Given the description of an element on the screen output the (x, y) to click on. 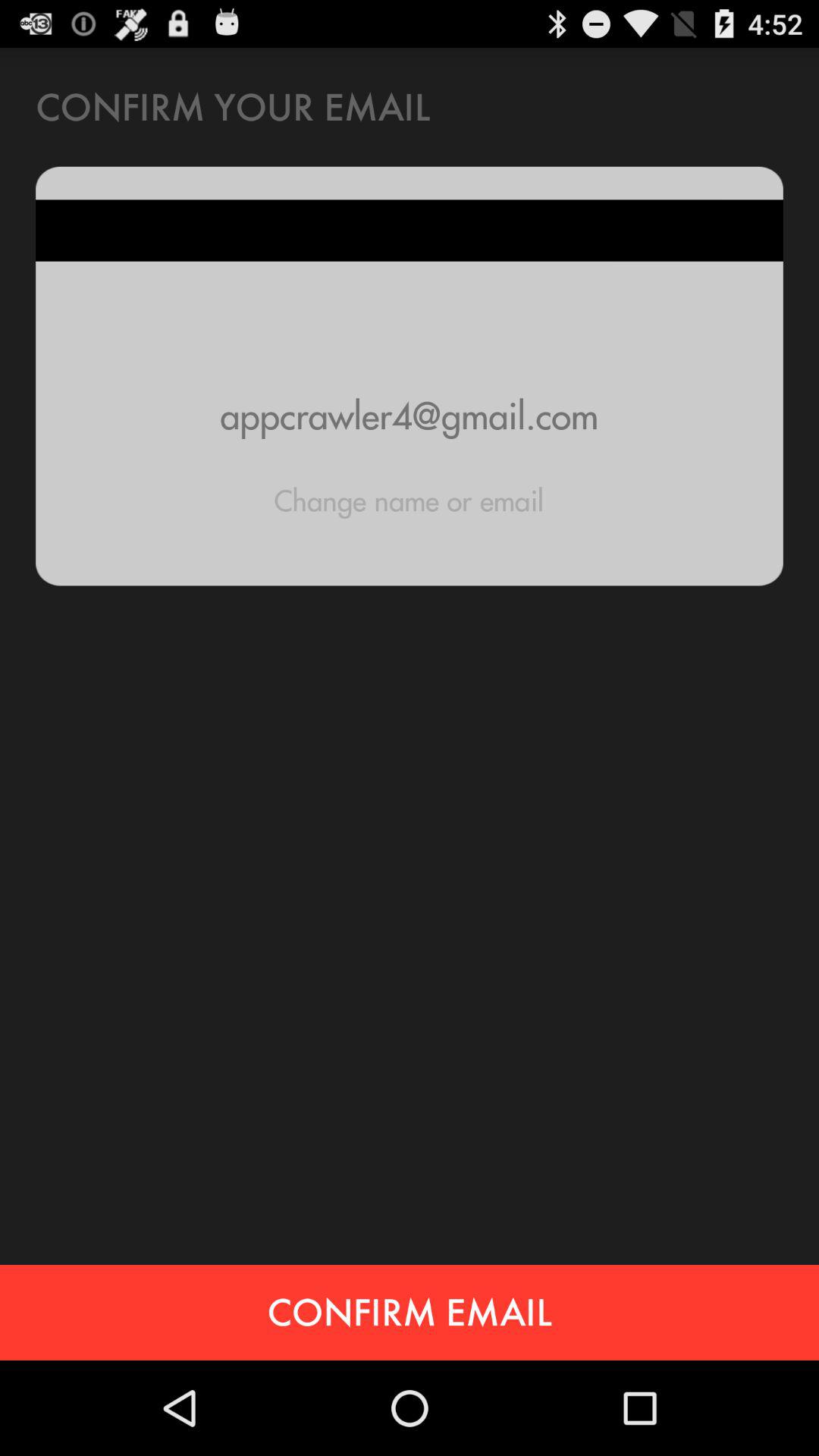
flip to appcrawler4@gmail.com icon (409, 415)
